Given the description of an element on the screen output the (x, y) to click on. 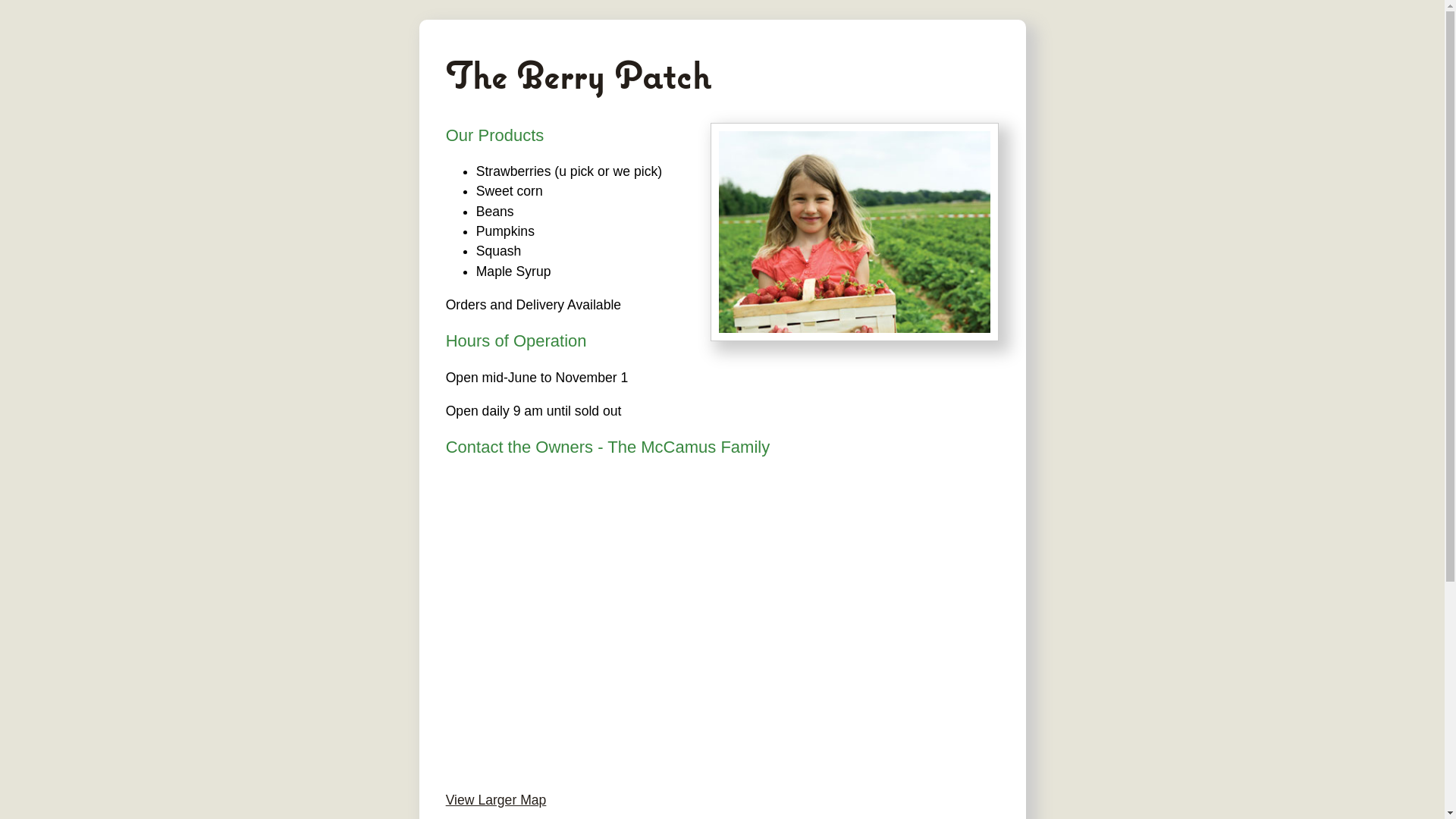
View Larger Map Element type: text (495, 799)
